Given the description of an element on the screen output the (x, y) to click on. 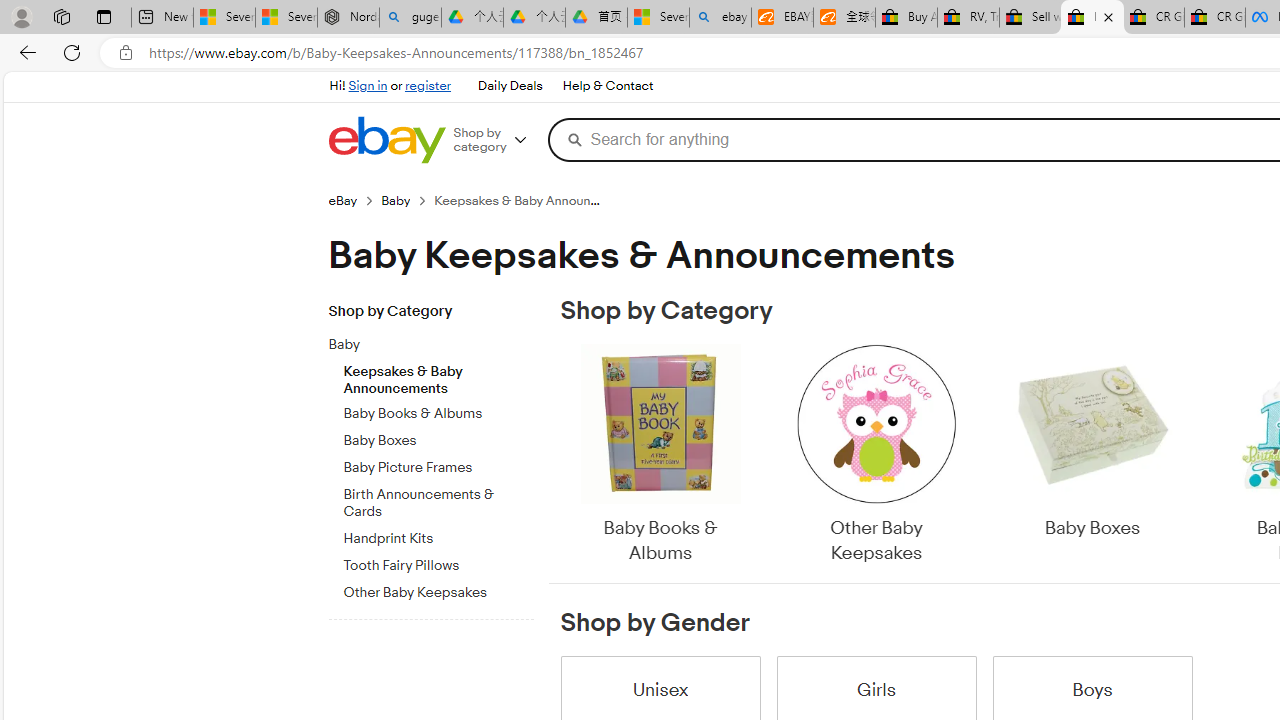
guge yunpan - Search (410, 17)
eBay Home (386, 139)
Daily Deals (509, 86)
Baby (422, 345)
Other Baby Keepsakes (875, 455)
Other Baby Keepsakes (875, 455)
Handprint Kits (438, 538)
Baby Books & Albums (660, 455)
register (427, 85)
Sell worldwide with eBay (1030, 17)
eBay (342, 200)
